Given the description of an element on the screen output the (x, y) to click on. 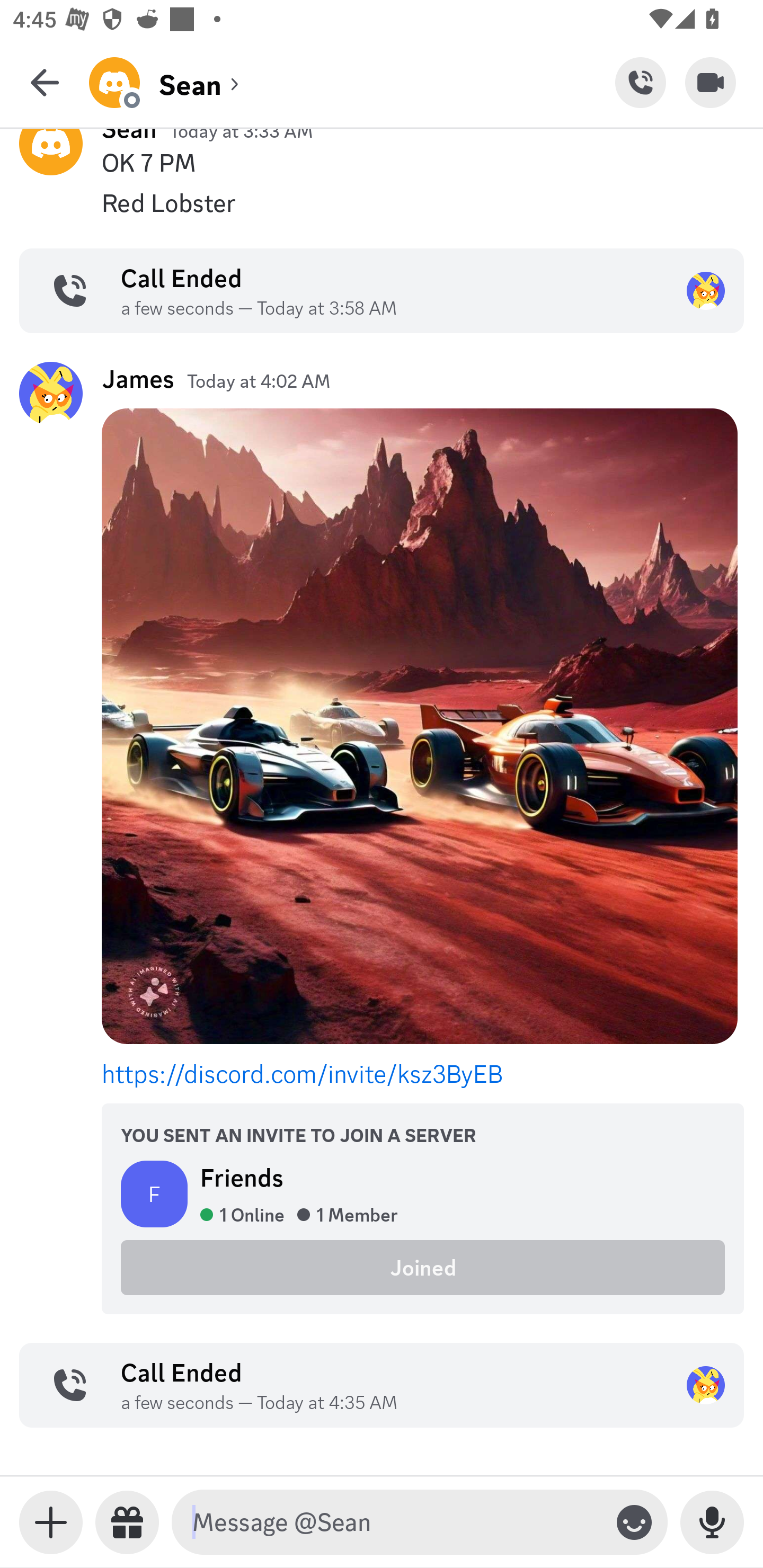
Sean (channel) Sean Sean (channel) (351, 82)
Back (44, 82)
Start Voice Call (640, 82)
Start Video Call (710, 82)
yuxiang.007, Red Lobster Red Lobster (381, 202)
Call Ended a few seconds — Today at 3:58 AM (381, 289)
James (137, 378)
Joined (422, 1267)
Call Ended a few seconds — Today at 4:35 AM (381, 1384)
Message @Sean Toggle emoji keyboard (419, 1522)
Toggle media keyboard (50, 1522)
Send a gift (126, 1522)
Record Voice Message (711, 1522)
Toggle emoji keyboard (634, 1522)
